Given the description of an element on the screen output the (x, y) to click on. 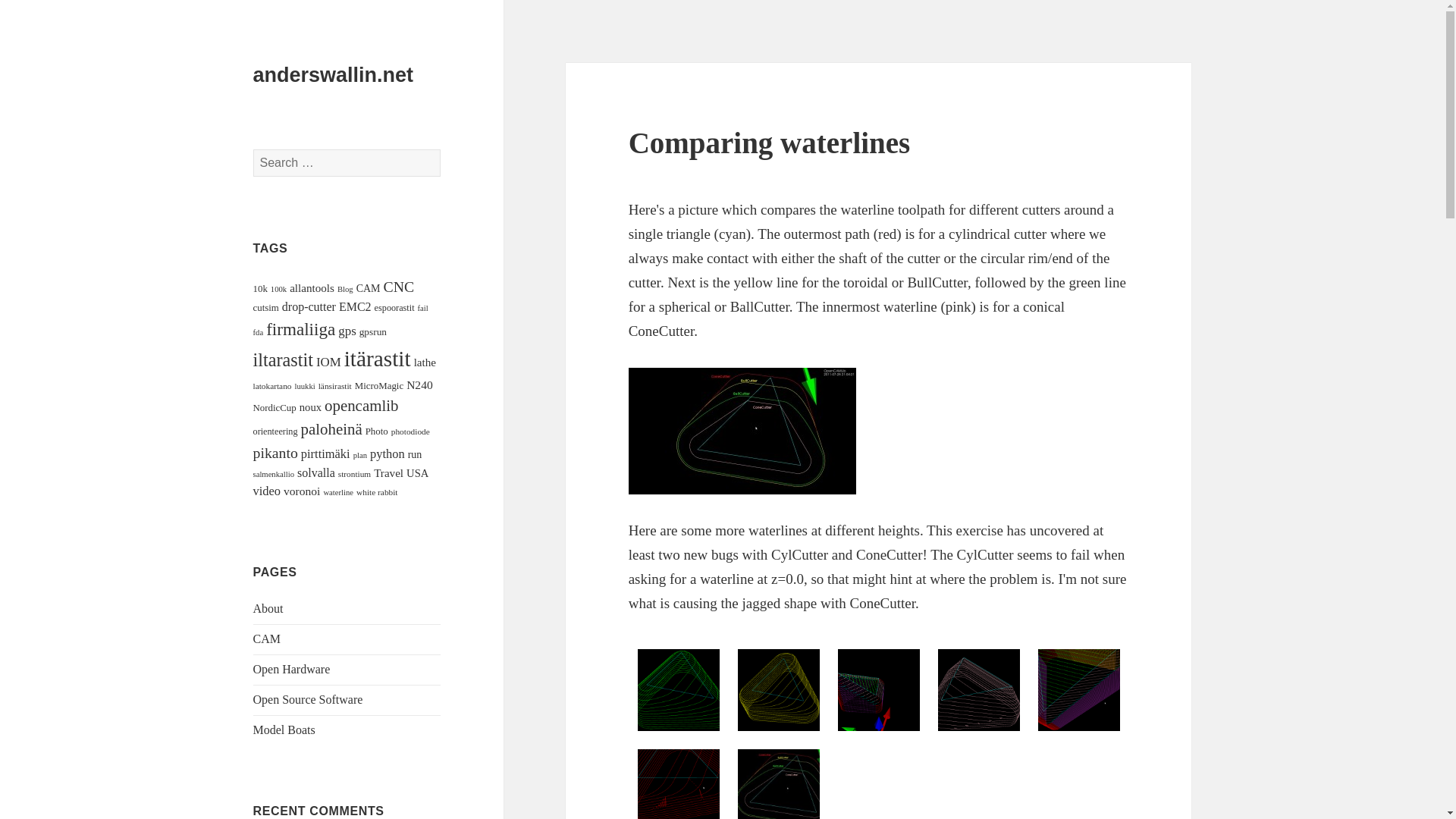
lathe (424, 362)
python (386, 453)
photodiode (410, 430)
noux (310, 407)
MicroMagic (379, 385)
espoorastit (394, 307)
allantools (311, 287)
NordicCup (275, 407)
CAM (368, 288)
gpsrun (373, 331)
iltarastit (283, 359)
fail (422, 307)
fda (258, 332)
orienteering (275, 430)
